Given the description of an element on the screen output the (x, y) to click on. 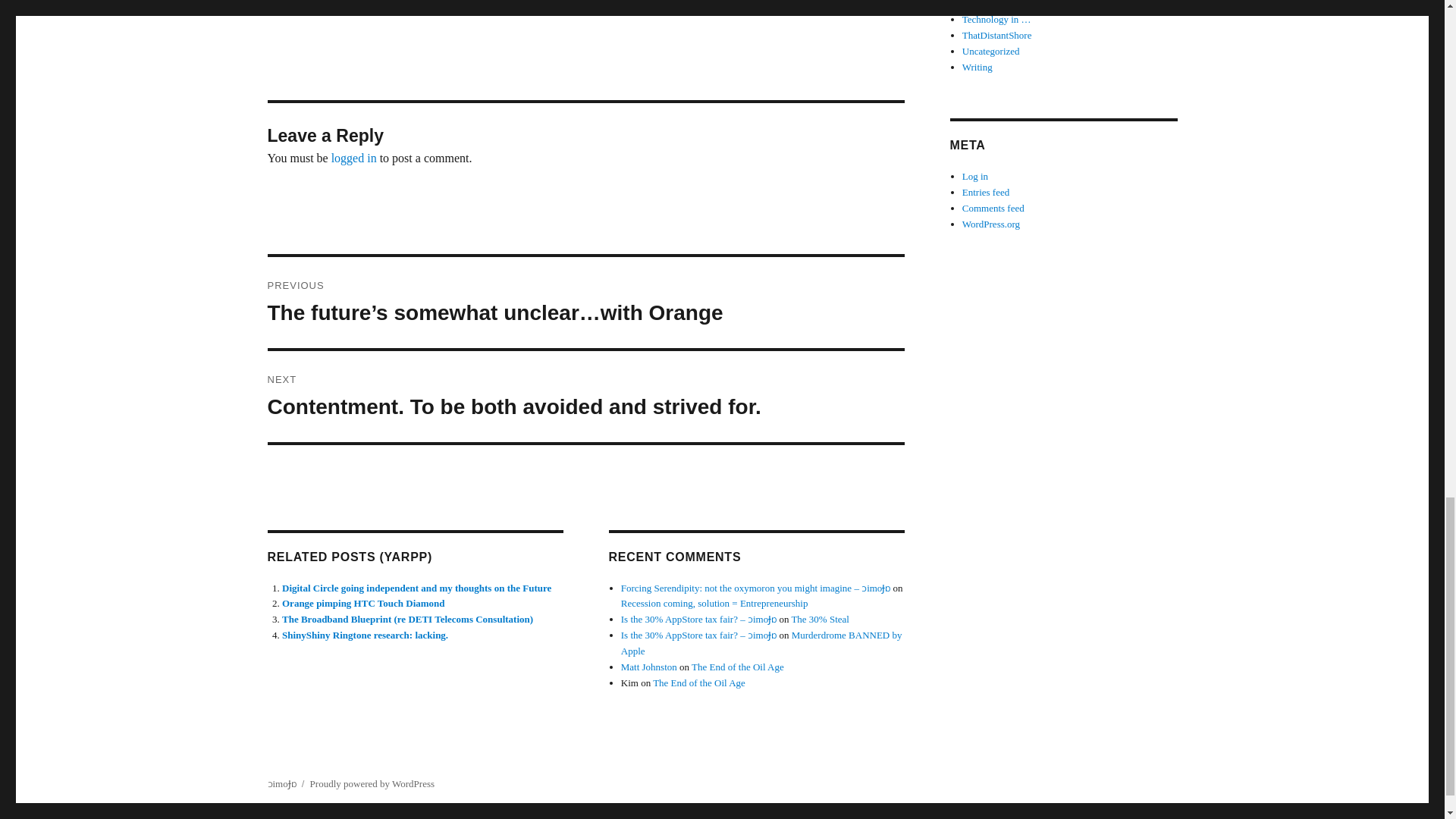
ShinyShiny Ringtone research: lacking. (365, 634)
Murderdrome BANNED by Apple (761, 642)
The End of the Oil Age (737, 666)
Log in to Reply (304, 5)
logged in (354, 157)
Matt Johnston (649, 666)
Orange pimping HTC Touch Diamond (363, 603)
The End of the Oil Age (698, 682)
